Given the description of an element on the screen output the (x, y) to click on. 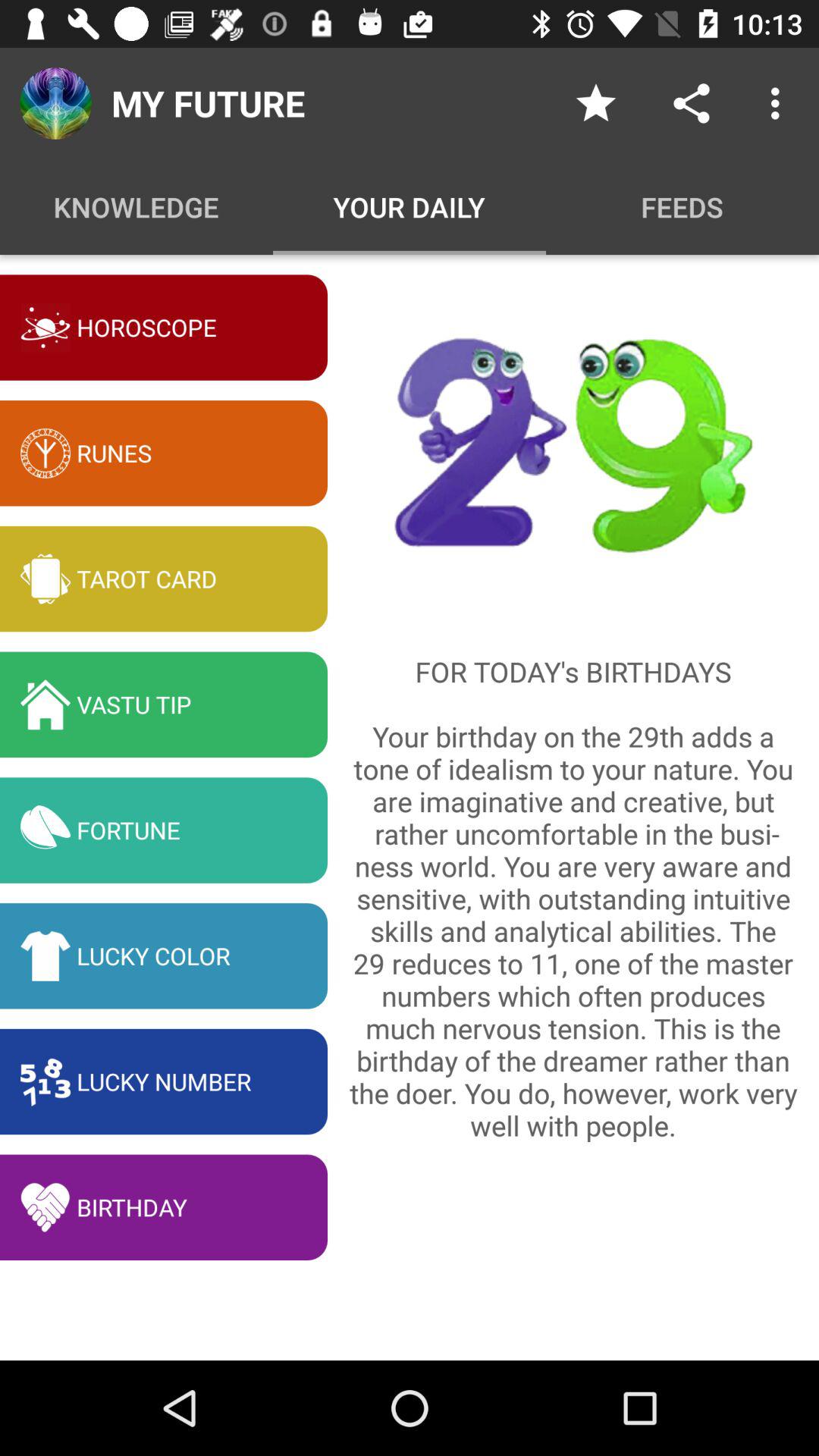
click the icon above feeds item (691, 103)
